Given the description of an element on the screen output the (x, y) to click on. 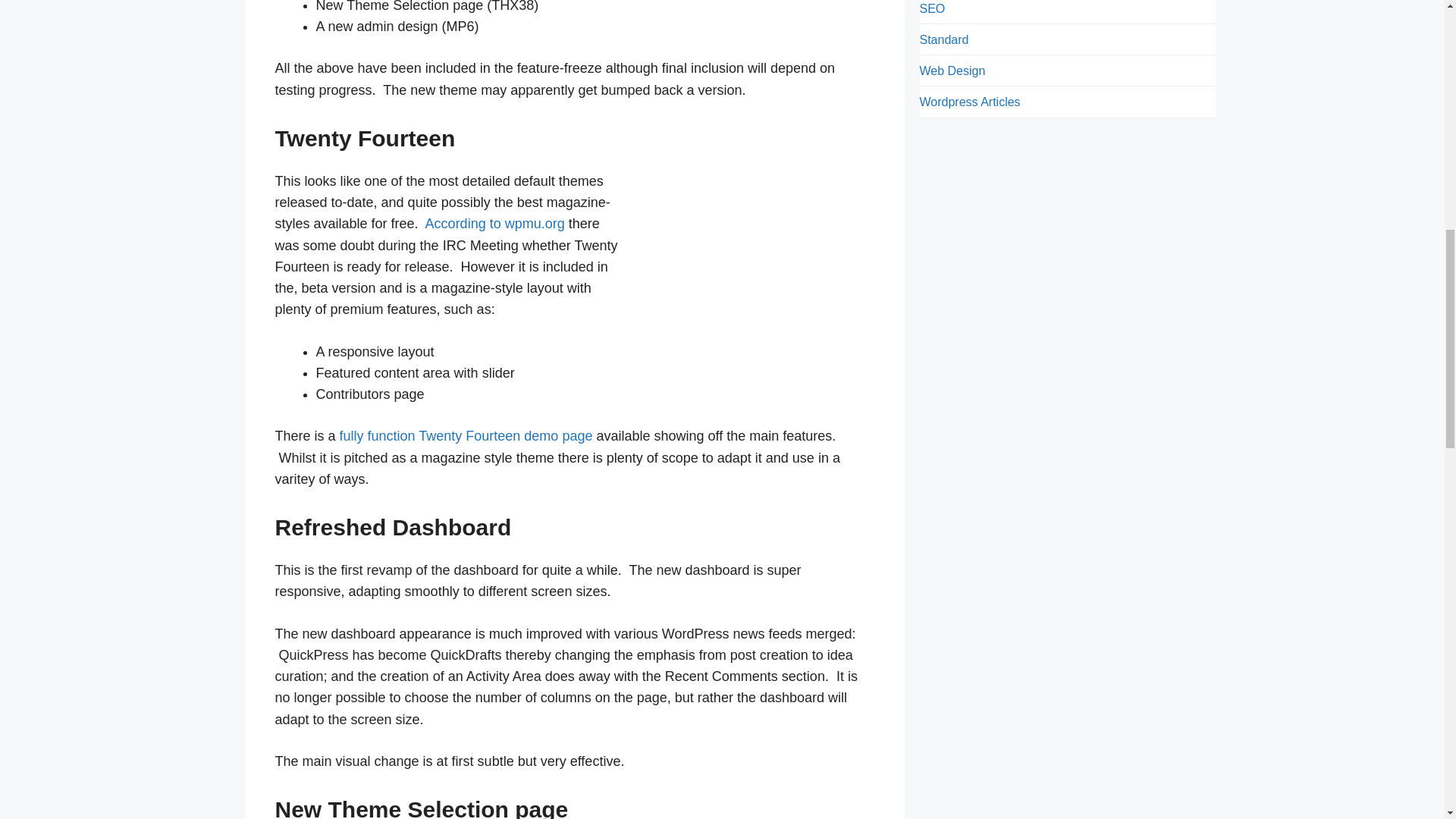
Scroll back to top (1406, 720)
Twenty Fourteen Demo (464, 435)
WordPress 3.8 Feature Discussion (494, 223)
According to wpmu.org (494, 223)
fully function Twenty Fourteen demo page (464, 435)
WordPress 3.8 - What's New 2 (759, 241)
